Given the description of an element on the screen output the (x, y) to click on. 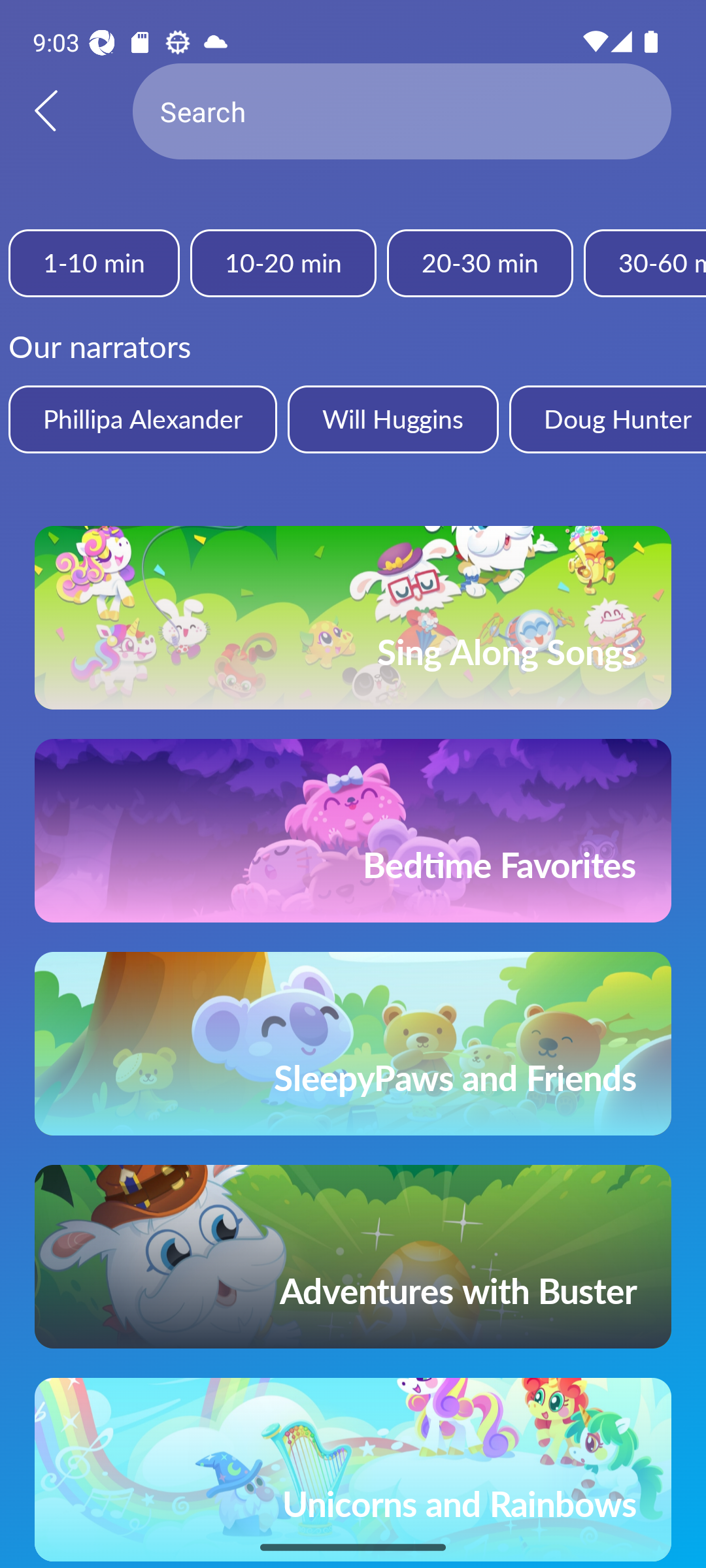
Search (401, 110)
1-10 min (94, 262)
10-20 min (282, 262)
20-30 min (479, 262)
30-60 min (644, 262)
Phillipa Alexander (142, 419)
Will Huggins (392, 419)
Doug Hunter (607, 419)
Sing Along Songs (352, 616)
Bedtime Favorites (352, 829)
SleepyPaws and Friends (352, 1043)
Adventures with Buster (352, 1256)
Unicorns and Rainbows (352, 1469)
